Given the description of an element on the screen output the (x, y) to click on. 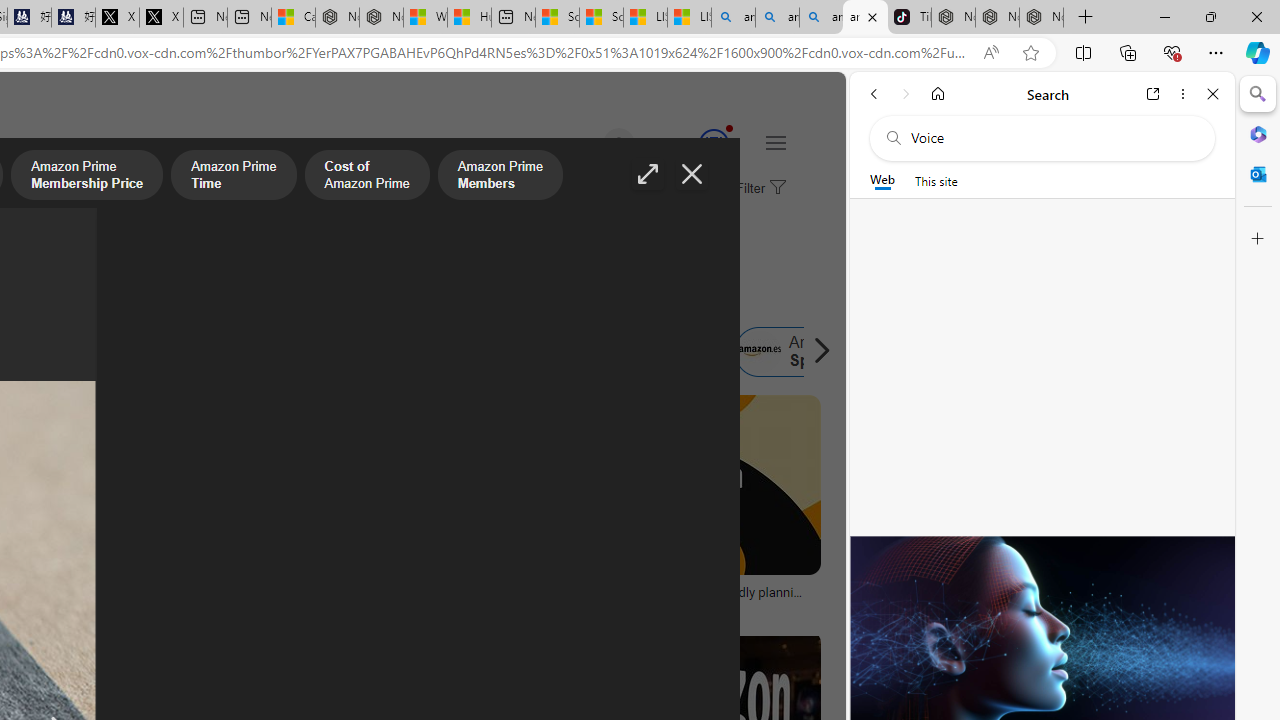
Amazon Forest (517, 351)
Amazon Shoes (659, 351)
Amazon down? Current status and problems | Downdetector (368, 598)
Nordace - Summer Adventures 2024 (381, 17)
Amazon Prime Membership (128, 351)
Image result for amazon (685, 485)
